Given the description of an element on the screen output the (x, y) to click on. 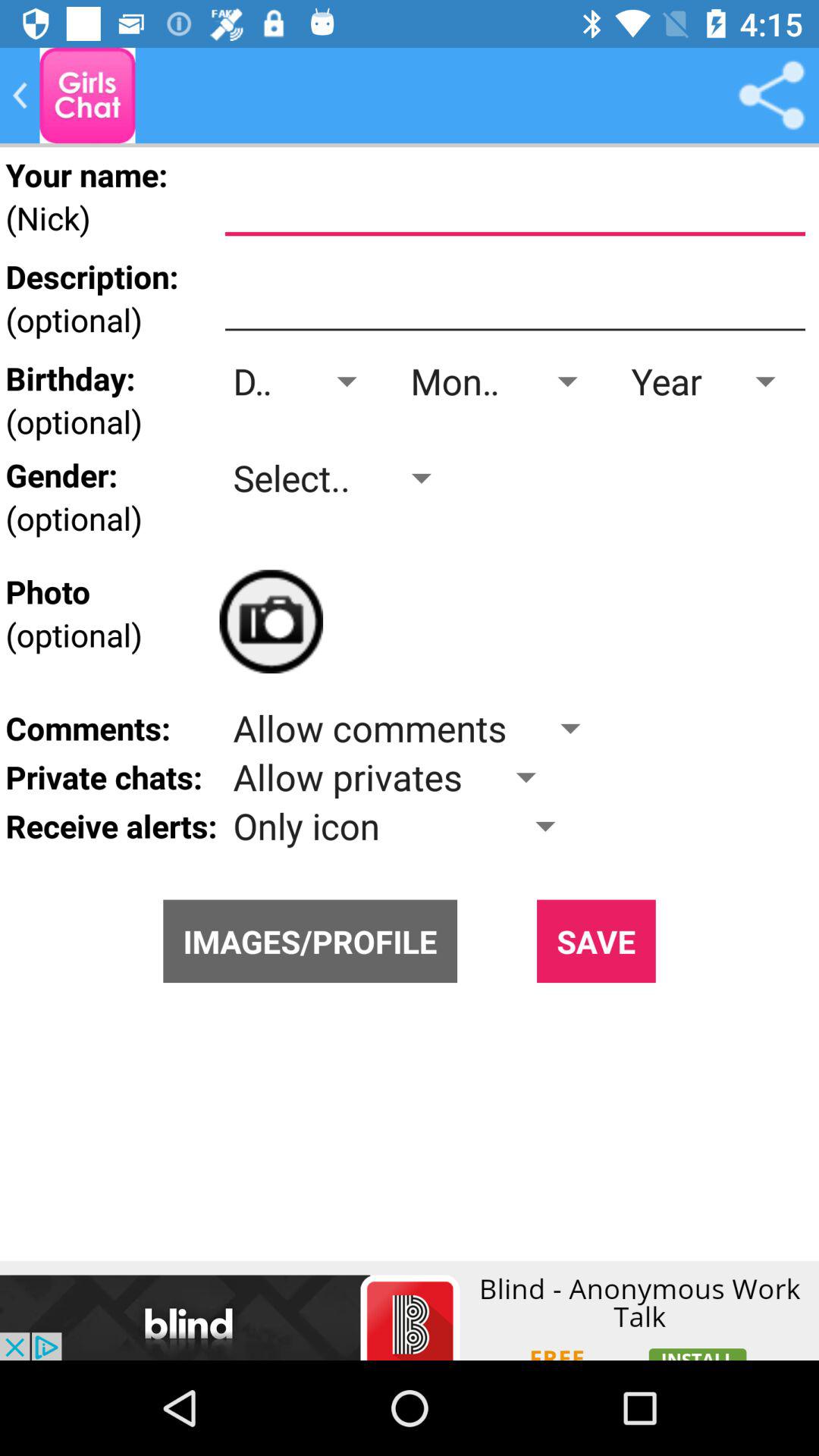
enter name (515, 200)
